Given the description of an element on the screen output the (x, y) to click on. 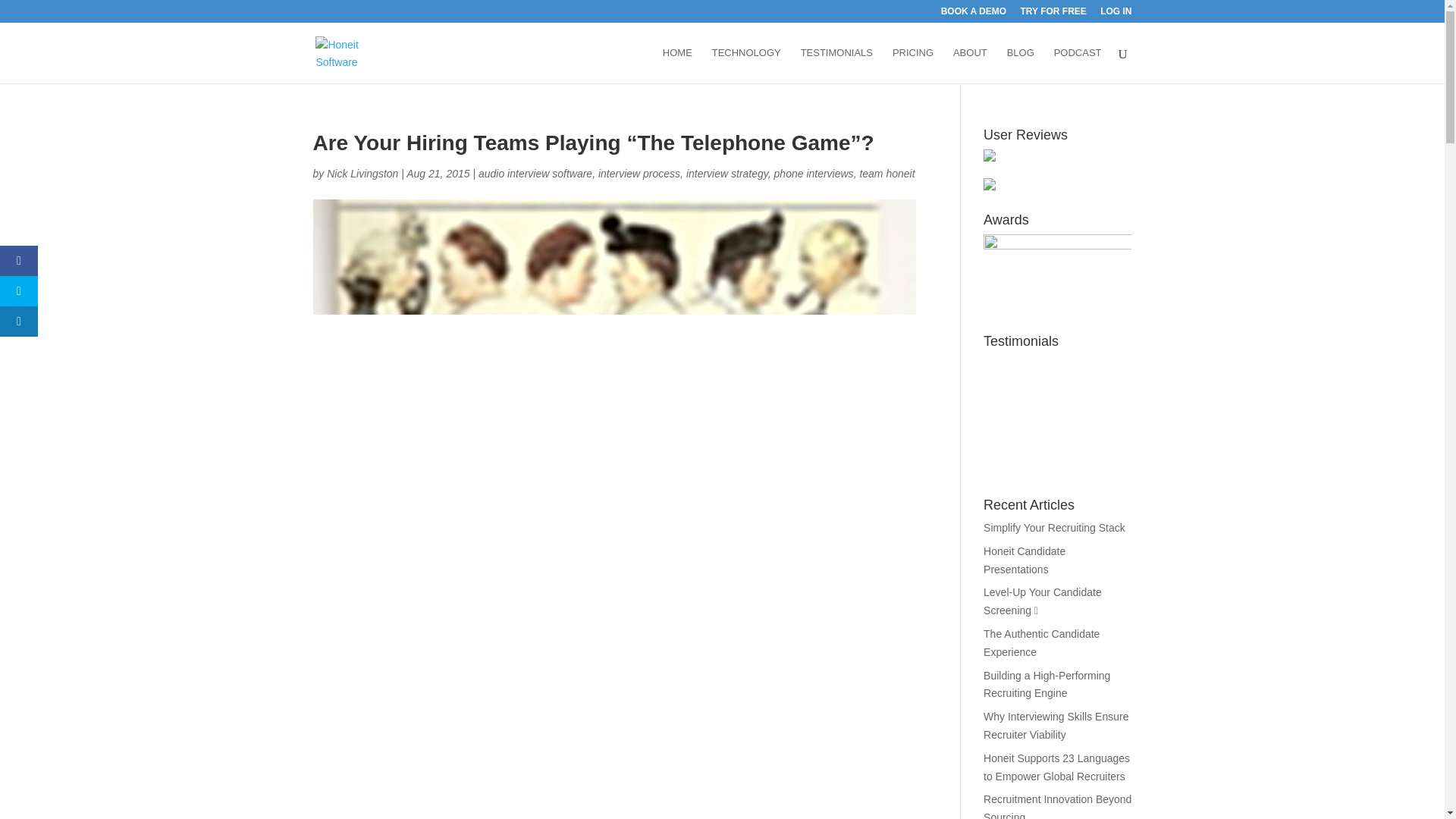
TRY FOR FREE (1053, 14)
Building a High-Performing Recruiting Engine (1046, 684)
PRICING (912, 65)
phone interviews (813, 173)
team honeit (886, 173)
BOOK A DEMO (973, 14)
TESTIMONIALS (836, 65)
Posts by Nick Livingston (361, 173)
Nick Livingston (361, 173)
The Authentic Candidate Experience (1041, 643)
